Given the description of an element on the screen output the (x, y) to click on. 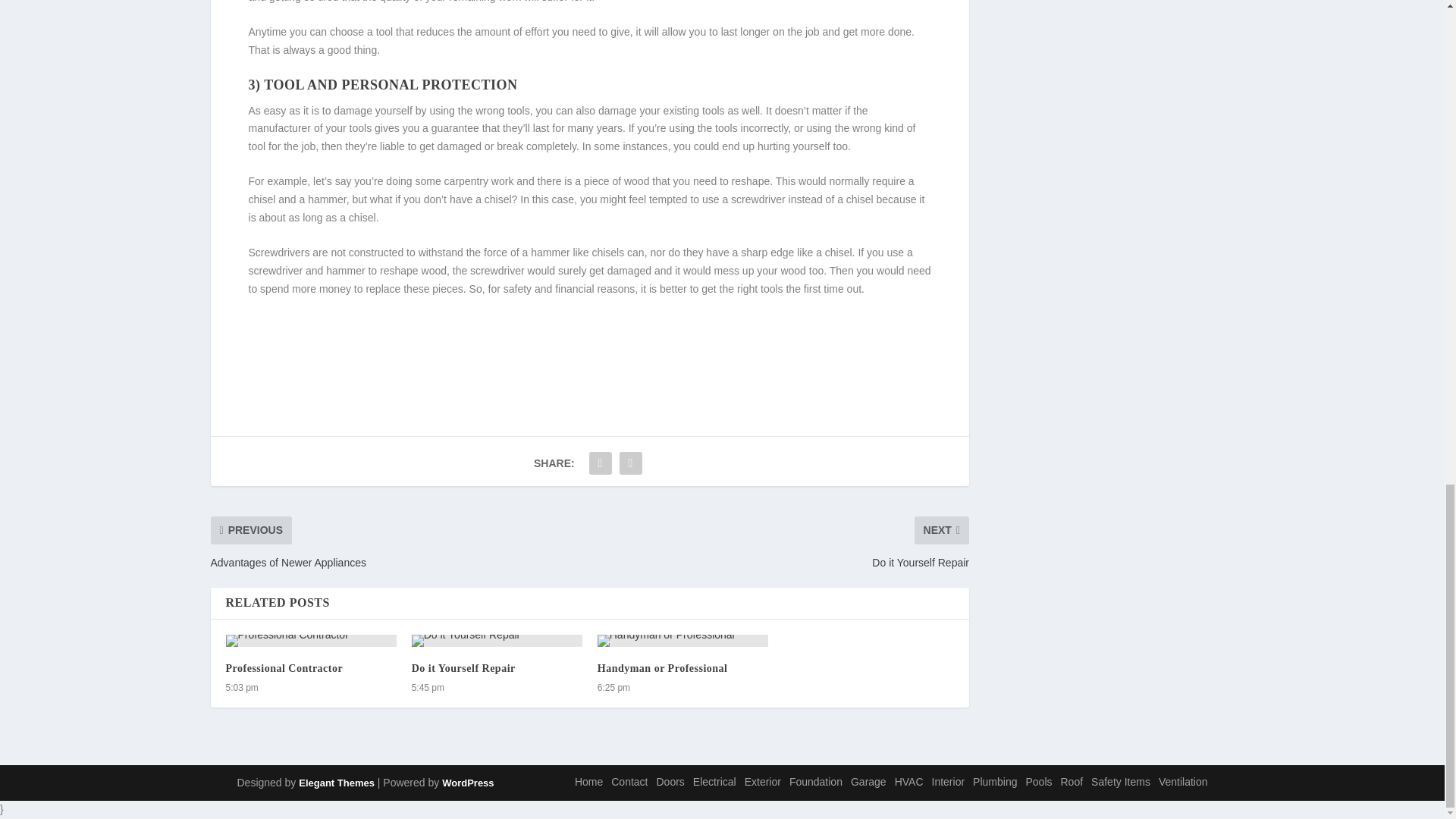
Professional Contractor (284, 668)
Do it Yourself Repair (497, 640)
Handyman or Professional (682, 640)
Share "Right Tool for the Job" via Facebook (600, 462)
Do it Yourself Repair (463, 668)
Professional Contractor (310, 640)
Handyman or Professional (662, 668)
